Given the description of an element on the screen output the (x, y) to click on. 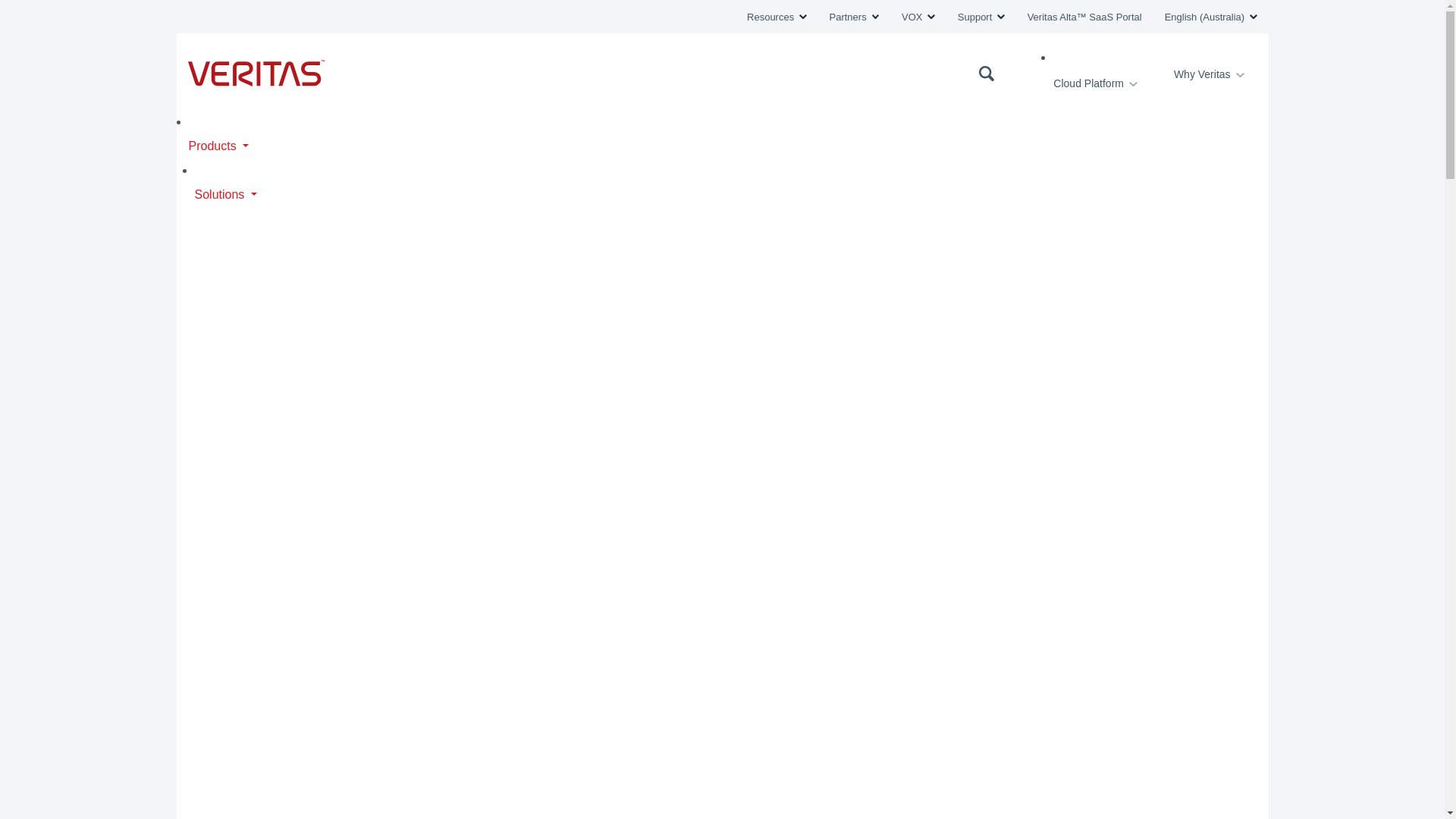
Support (981, 16)
Resources (776, 16)
VOX (917, 16)
Partners (854, 16)
